Given the description of an element on the screen output the (x, y) to click on. 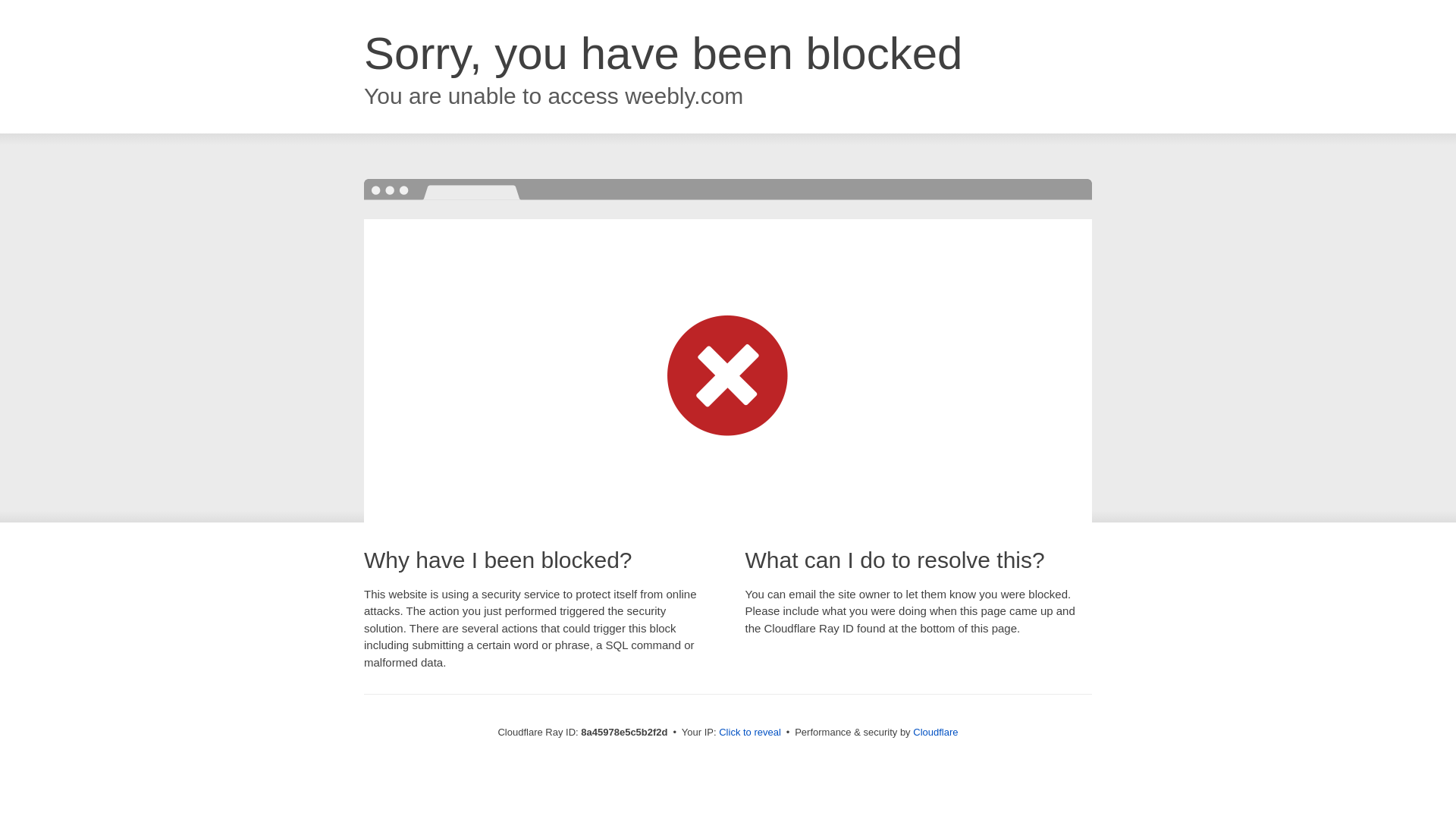
Click to reveal (749, 732)
Cloudflare (935, 731)
